Given the description of an element on the screen output the (x, y) to click on. 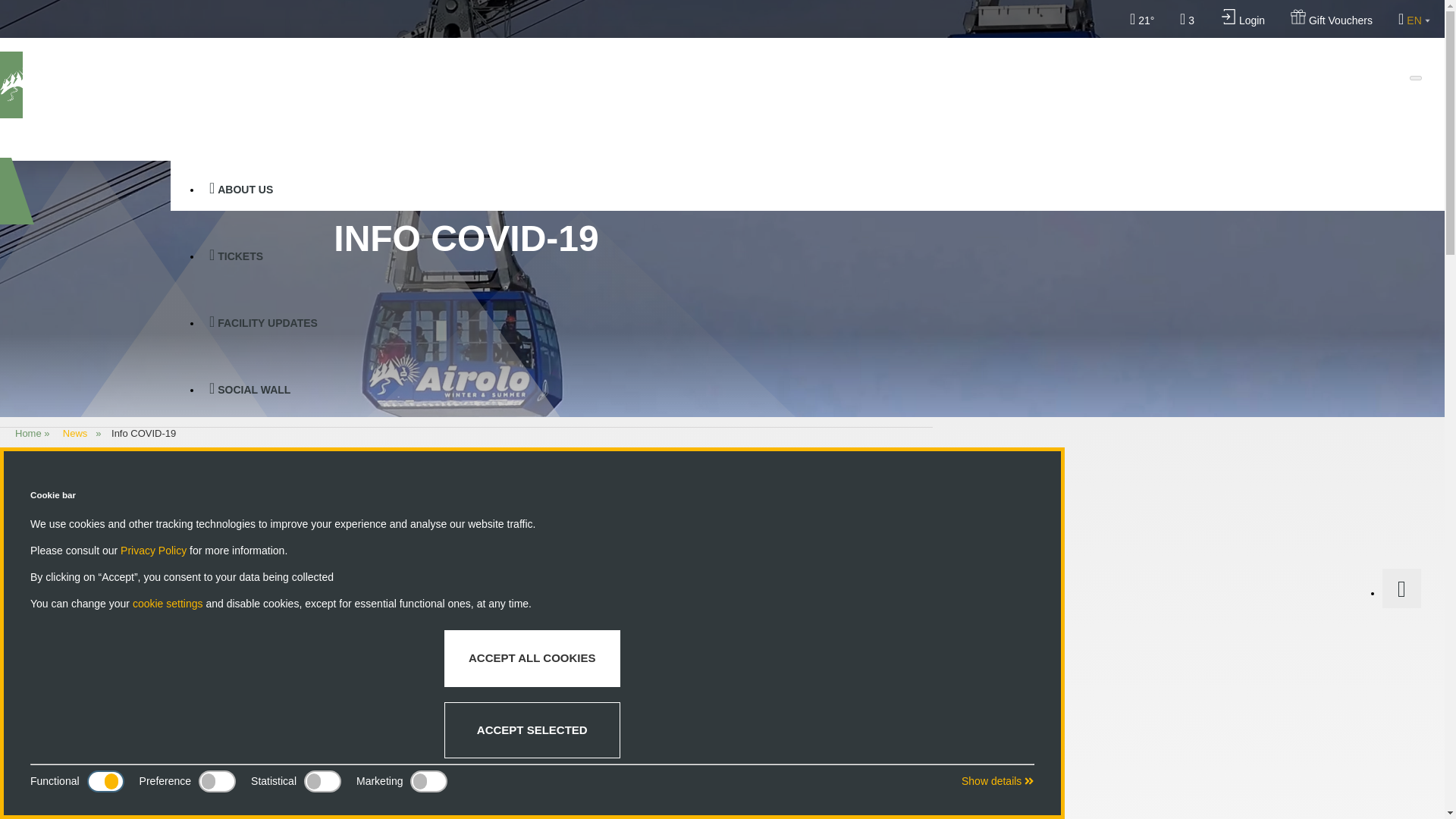
WEBCAMS (812, 521)
FACILITY UPDATES (812, 321)
Login (1243, 18)
MUNICIPALITY (812, 454)
SOCIAL WALL (812, 387)
ABOUT US (812, 187)
Gift Vouchers (1331, 18)
TICKETS (812, 254)
